Given the description of an element on the screen output the (x, y) to click on. 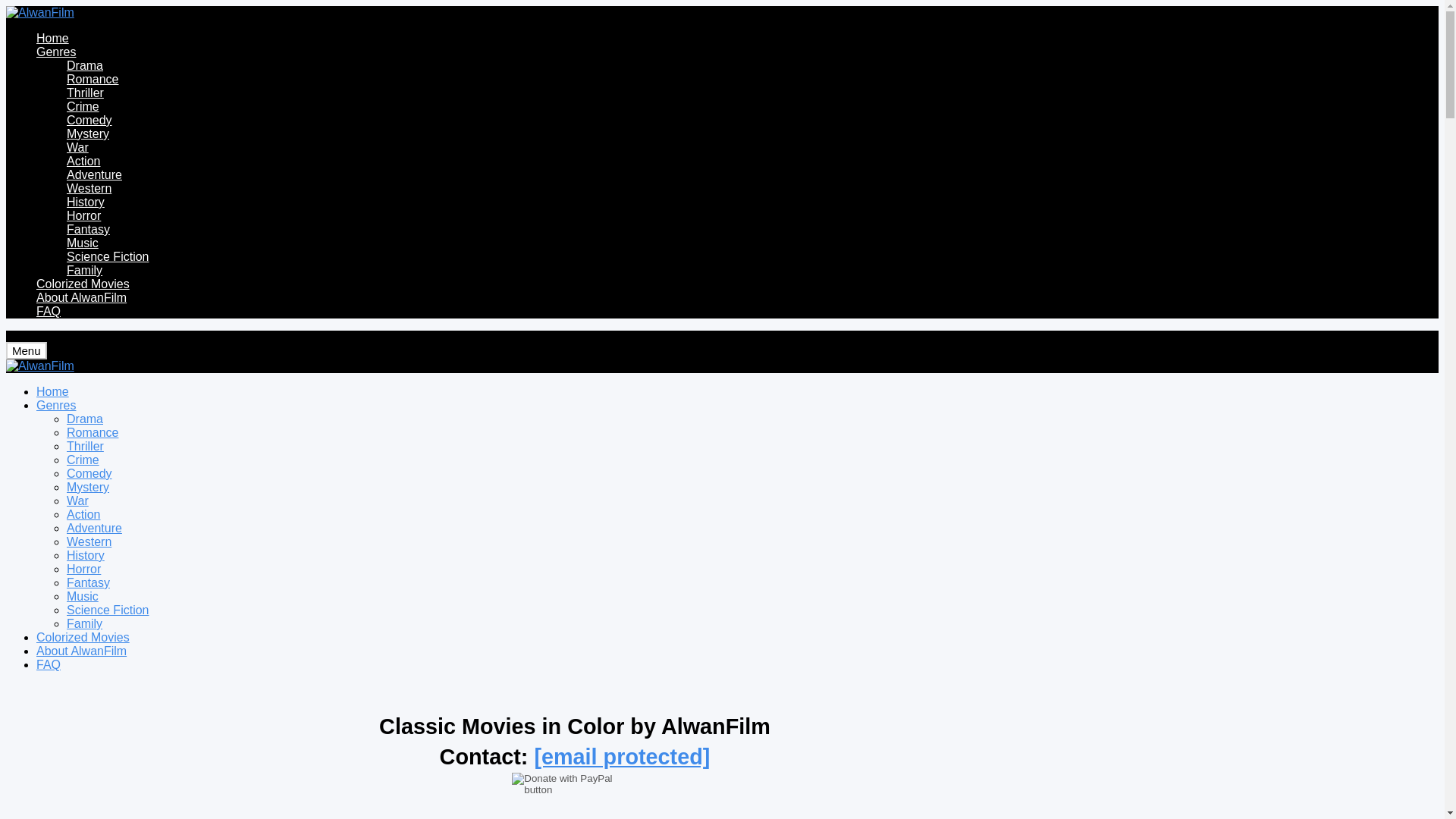
FAQ (48, 310)
Action (83, 513)
War (77, 500)
About AlwanFilm (81, 297)
Thriller (84, 445)
Comedy (89, 119)
Crime (82, 459)
Genres (55, 404)
Romance (91, 431)
Mystery (87, 133)
Horror (83, 568)
Genres (55, 51)
Music (82, 595)
Drama (84, 418)
Menu (25, 350)
